Given the description of an element on the screen output the (x, y) to click on. 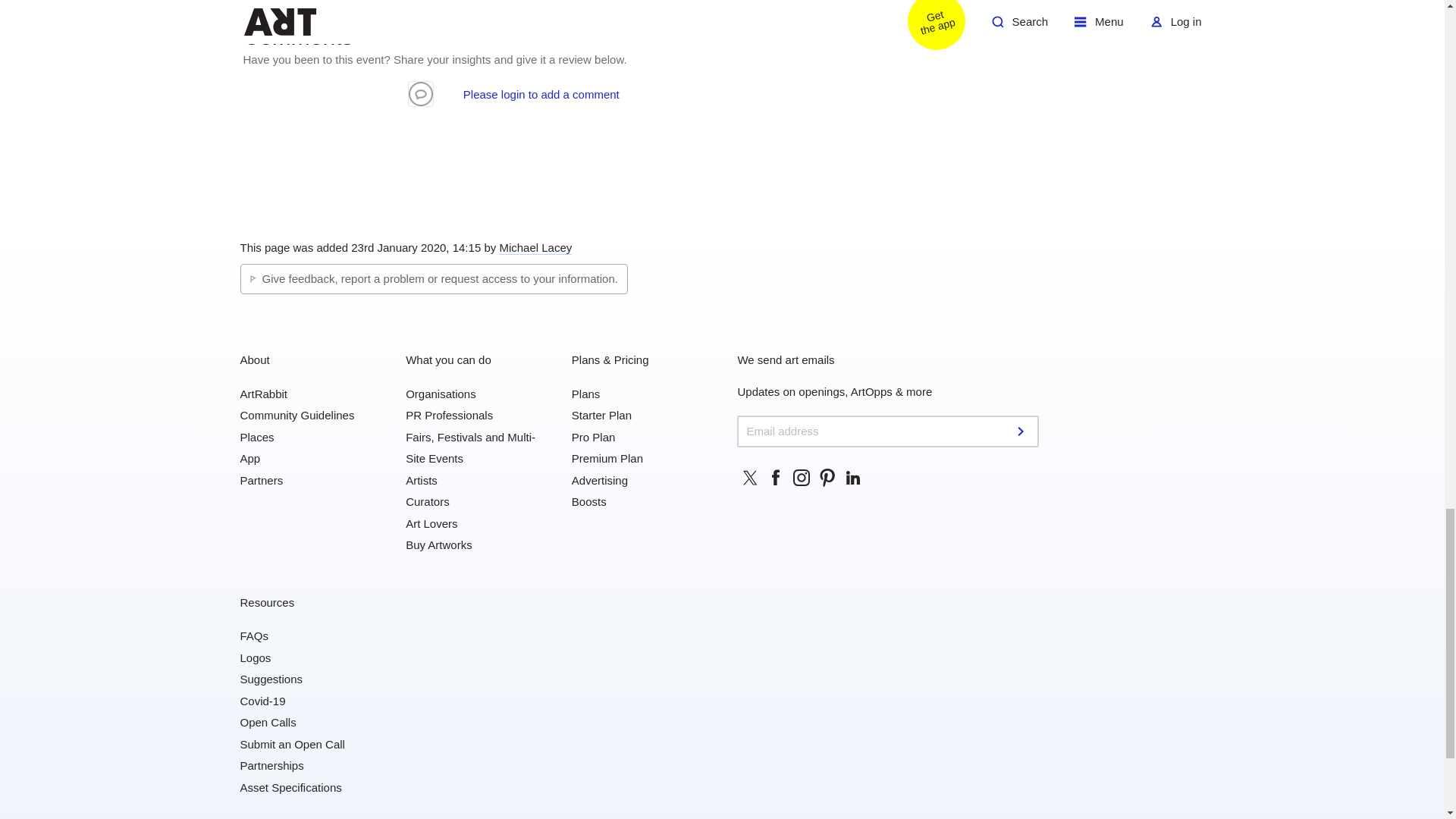
submit (1021, 430)
